Given the description of an element on the screen output the (x, y) to click on. 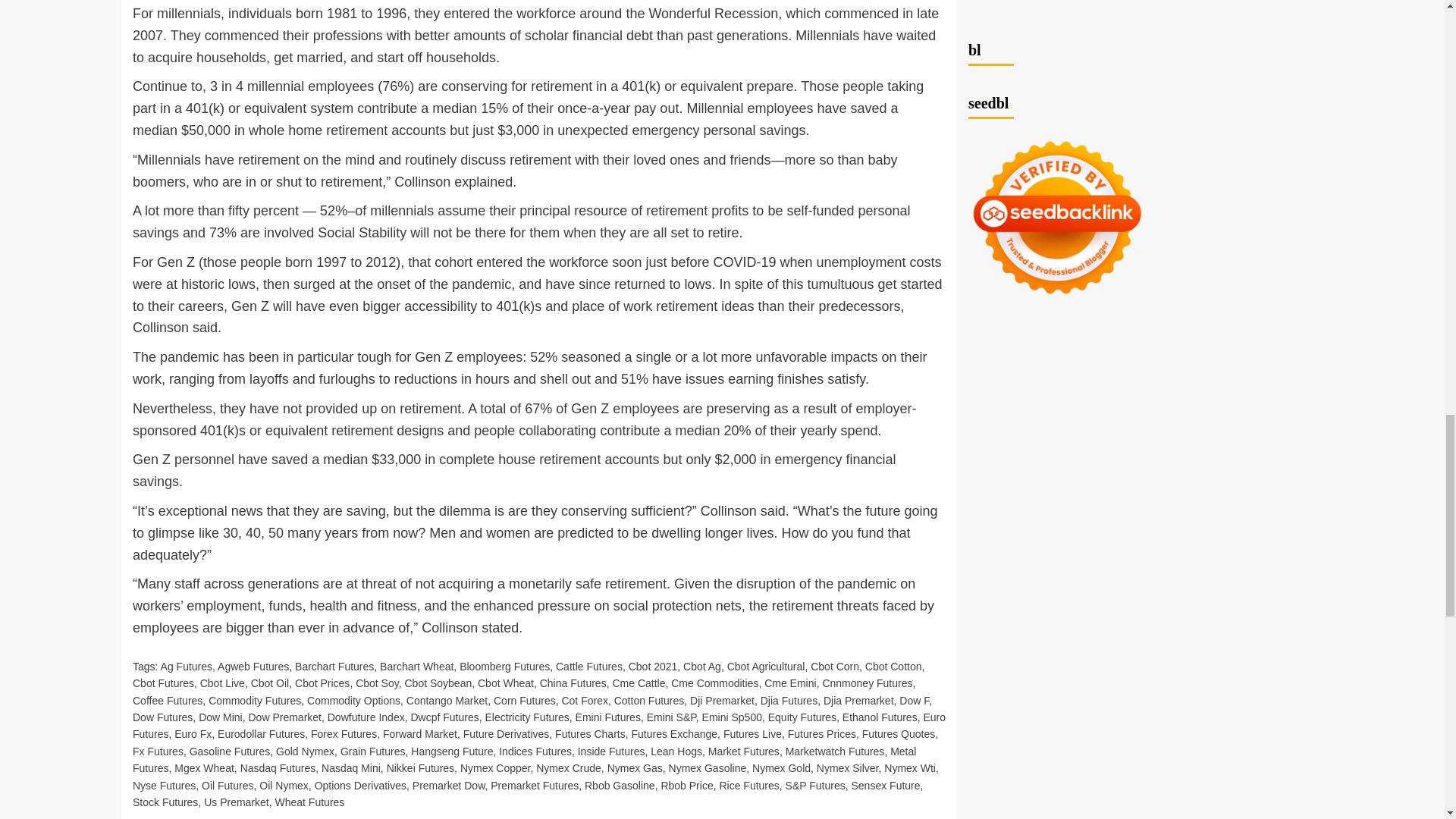
Cbot Prices (322, 683)
Ag Futures (186, 666)
Cbot Ag (701, 666)
Cattle Futures (589, 666)
Cbot Oil (269, 683)
Cbot Soy (376, 683)
Cbot Futures (162, 683)
Barchart Futures (334, 666)
Agweb Futures (252, 666)
Cbot 2021 (653, 666)
Cbot Agricultural (765, 666)
Bloomberg Futures (505, 666)
Barchart Wheat (416, 666)
Cbot Cotton (892, 666)
Cbot Corn (834, 666)
